Given the description of an element on the screen output the (x, y) to click on. 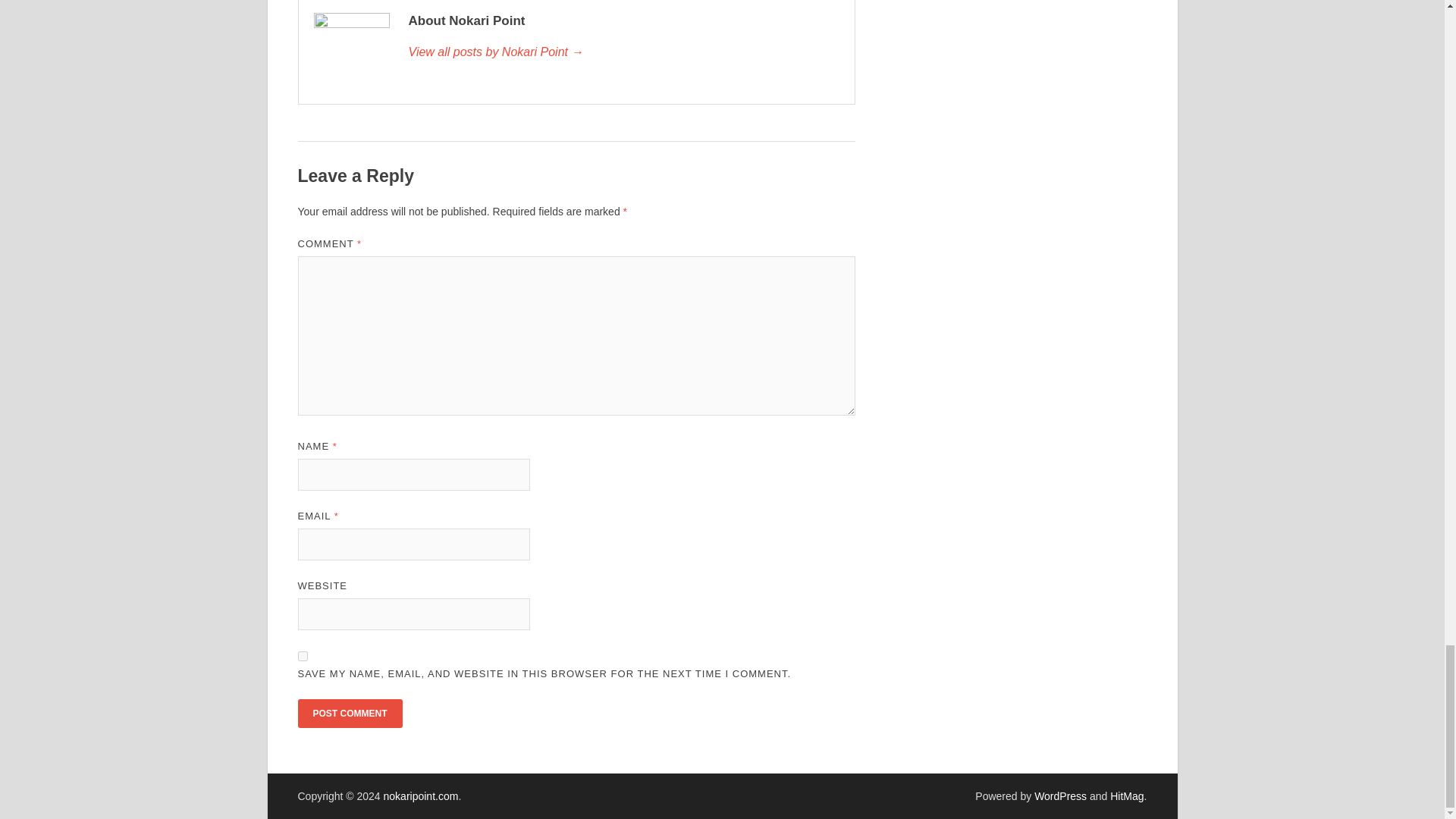
yes (302, 655)
Post Comment (349, 713)
nokaripoint.com (421, 796)
HitMag WordPress Theme (1125, 796)
Nokari Point (622, 52)
WordPress (1059, 796)
